Given the description of an element on the screen output the (x, y) to click on. 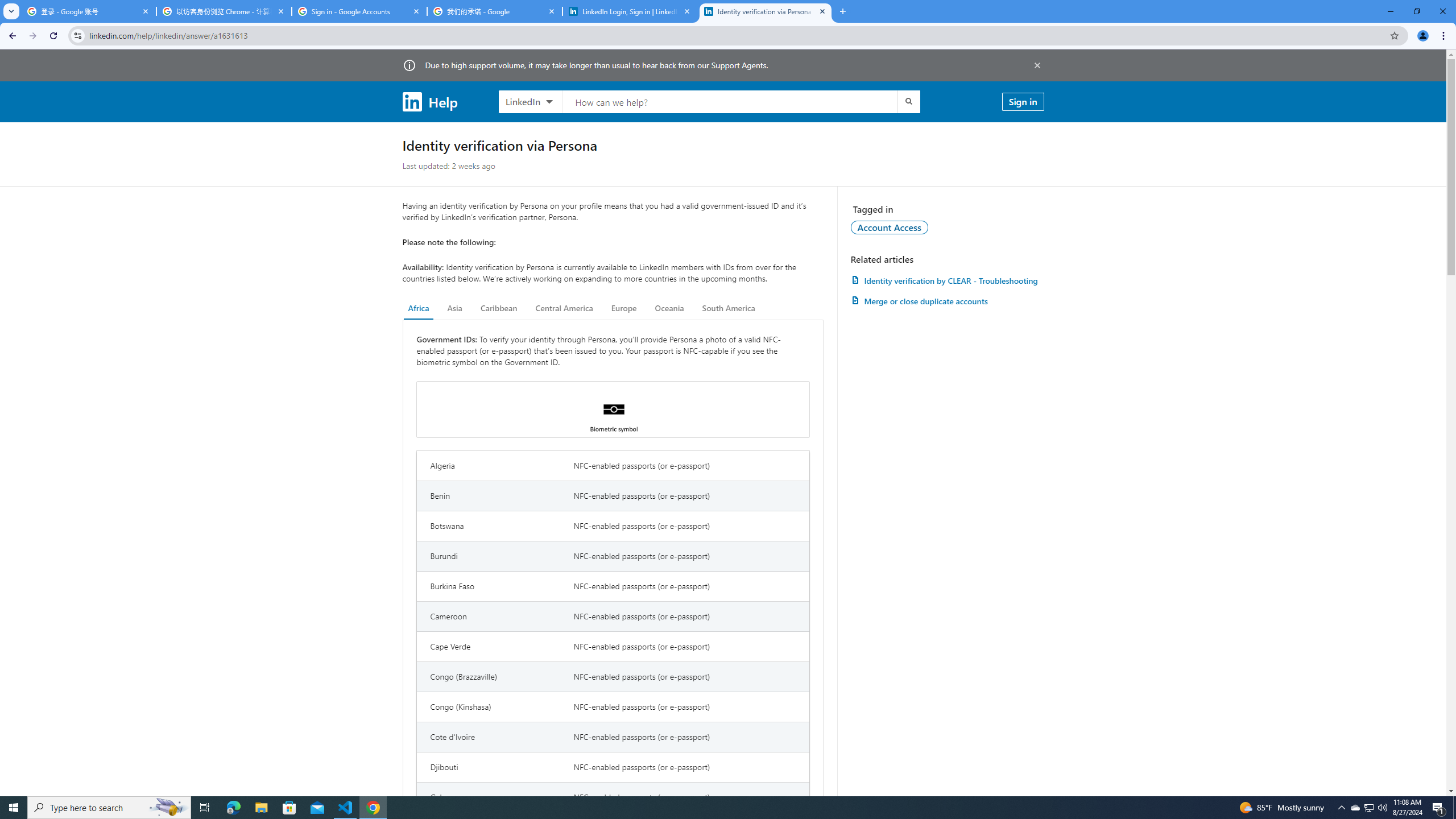
LinkedIn products to search, LinkedIn selected (530, 101)
Central America (563, 308)
Europe (623, 308)
AutomationID: topic-link-a151002 (889, 227)
Submit search (908, 101)
Merge or close duplicate accounts (946, 300)
AutomationID: article-link-a1457505 (946, 280)
